Given the description of an element on the screen output the (x, y) to click on. 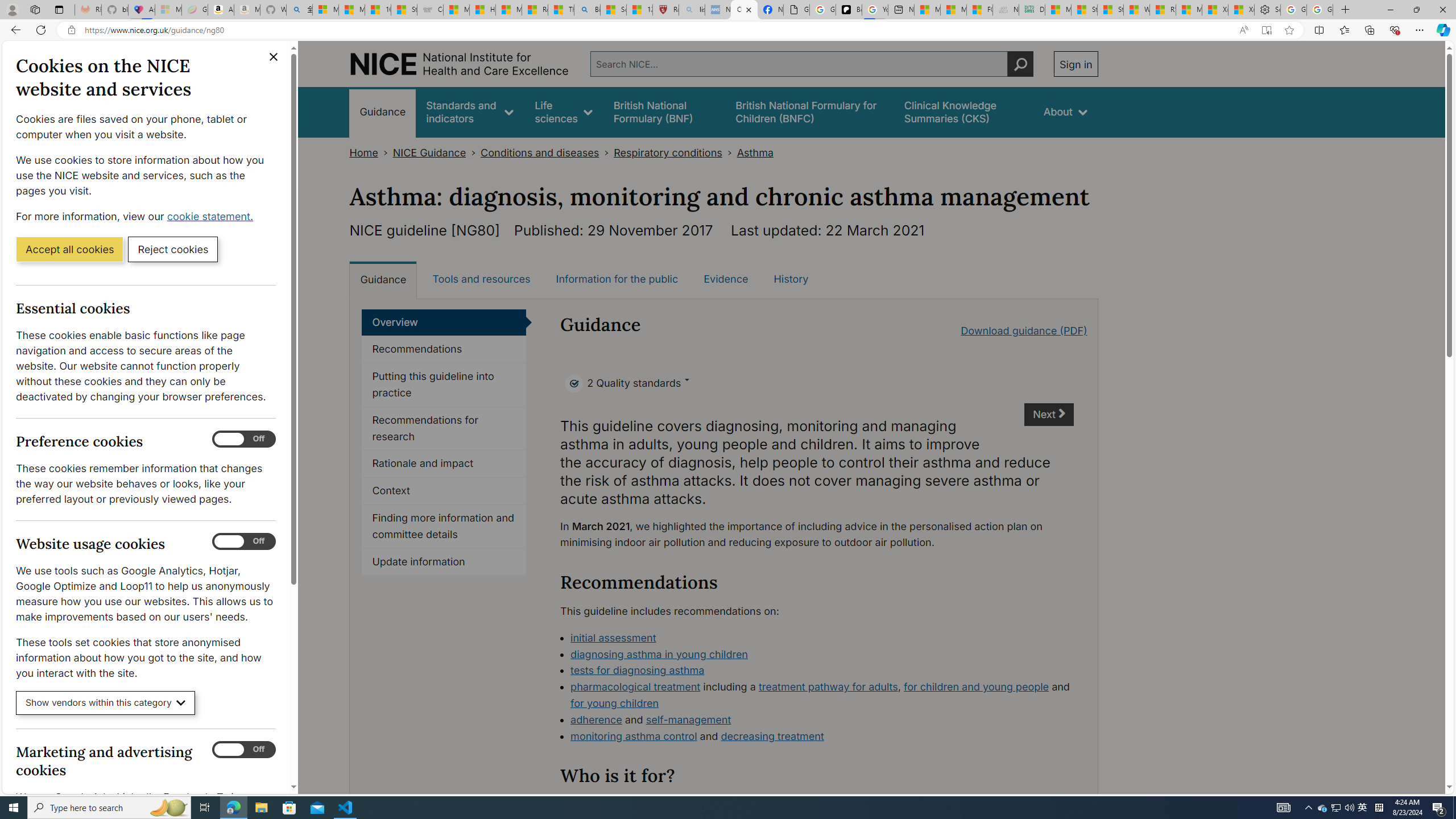
Guidance (383, 279)
Science - MSN (613, 9)
Rationale and impact (443, 463)
decreasing treatment (772, 735)
Evidence (725, 279)
History (790, 279)
adherence (595, 719)
